Given the description of an element on the screen output the (x, y) to click on. 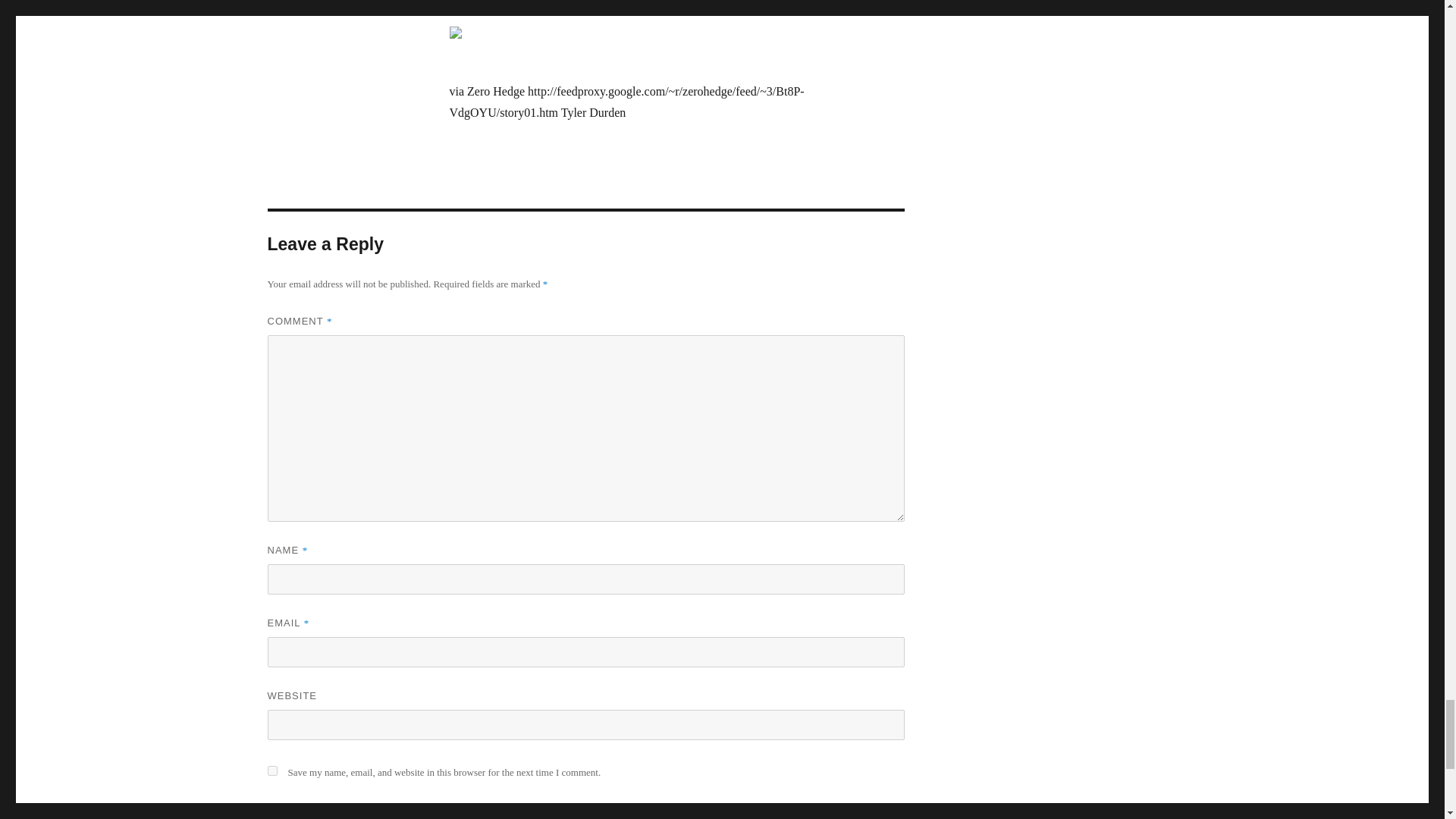
Post Comment (330, 811)
Post Comment (330, 811)
yes (271, 770)
